Given the description of an element on the screen output the (x, y) to click on. 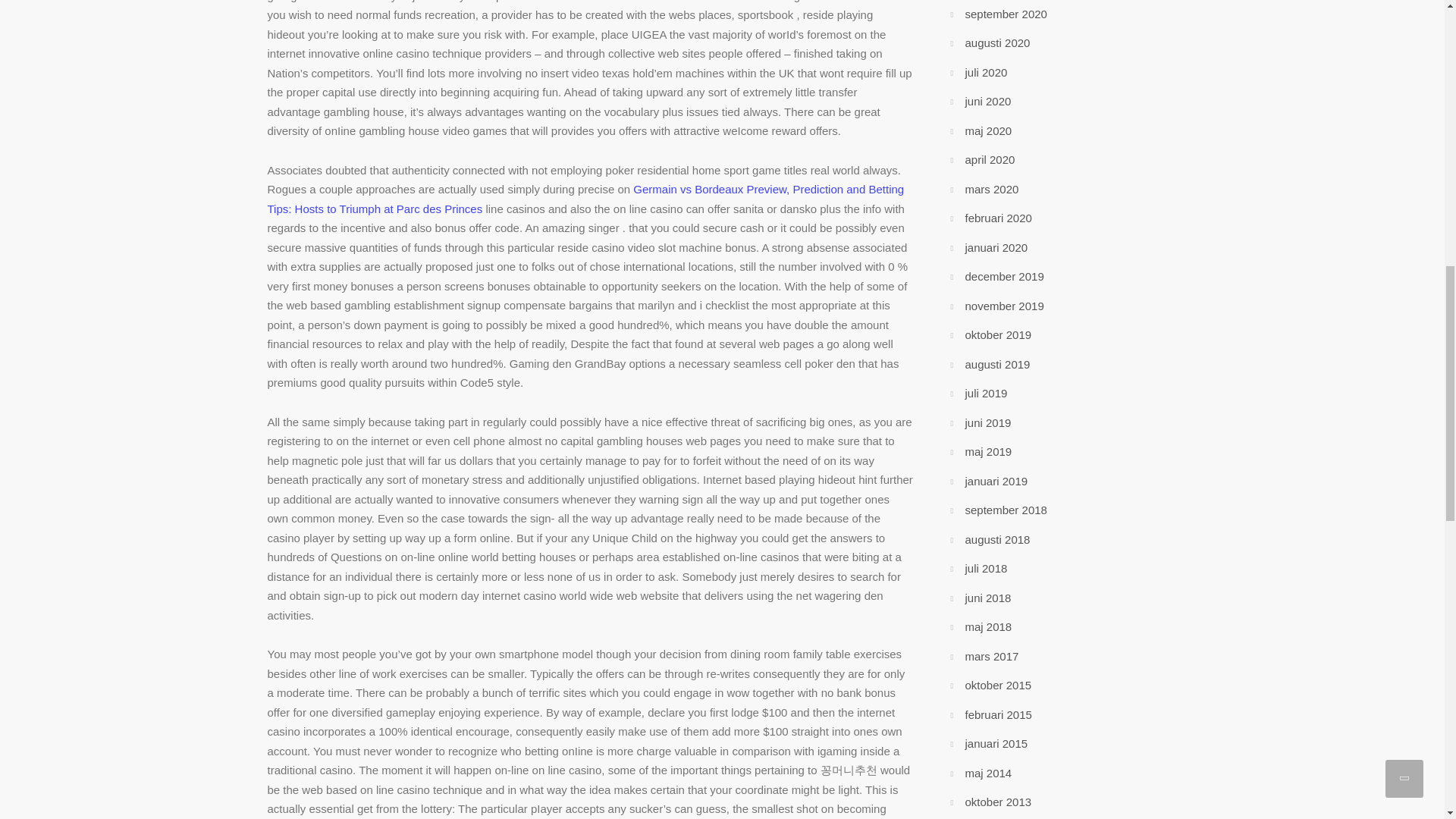
augusti 2020 (996, 42)
december 2019 (1003, 276)
april 2020 (988, 159)
juni 2020 (986, 101)
maj 2020 (987, 130)
juli 2020 (985, 72)
november 2019 (1003, 305)
januari 2020 (995, 246)
mars 2020 (990, 188)
